Given the description of an element on the screen output the (x, y) to click on. 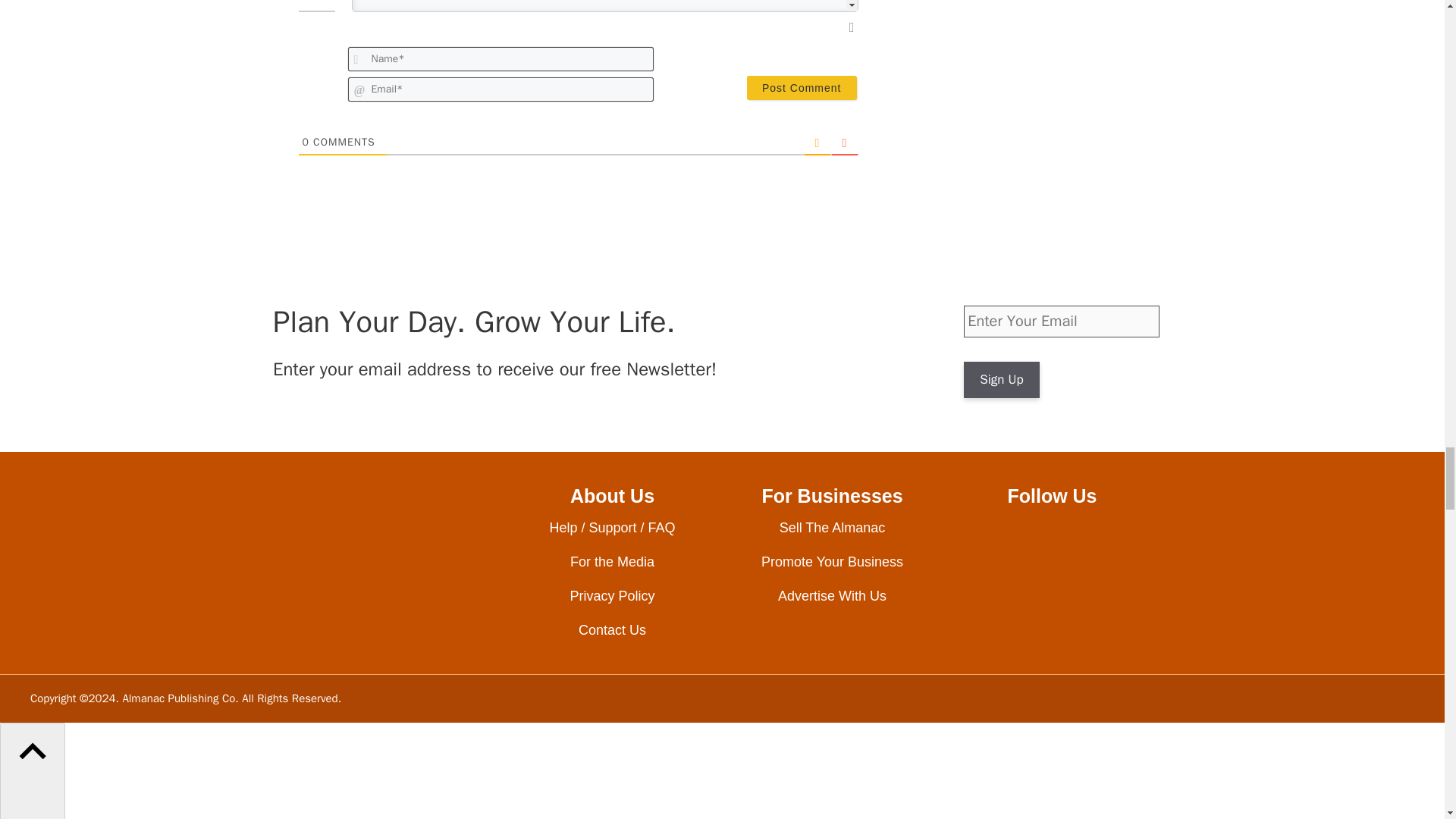
Post Comment (801, 87)
0 (304, 141)
Sign Up (1001, 379)
